Given the description of an element on the screen output the (x, y) to click on. 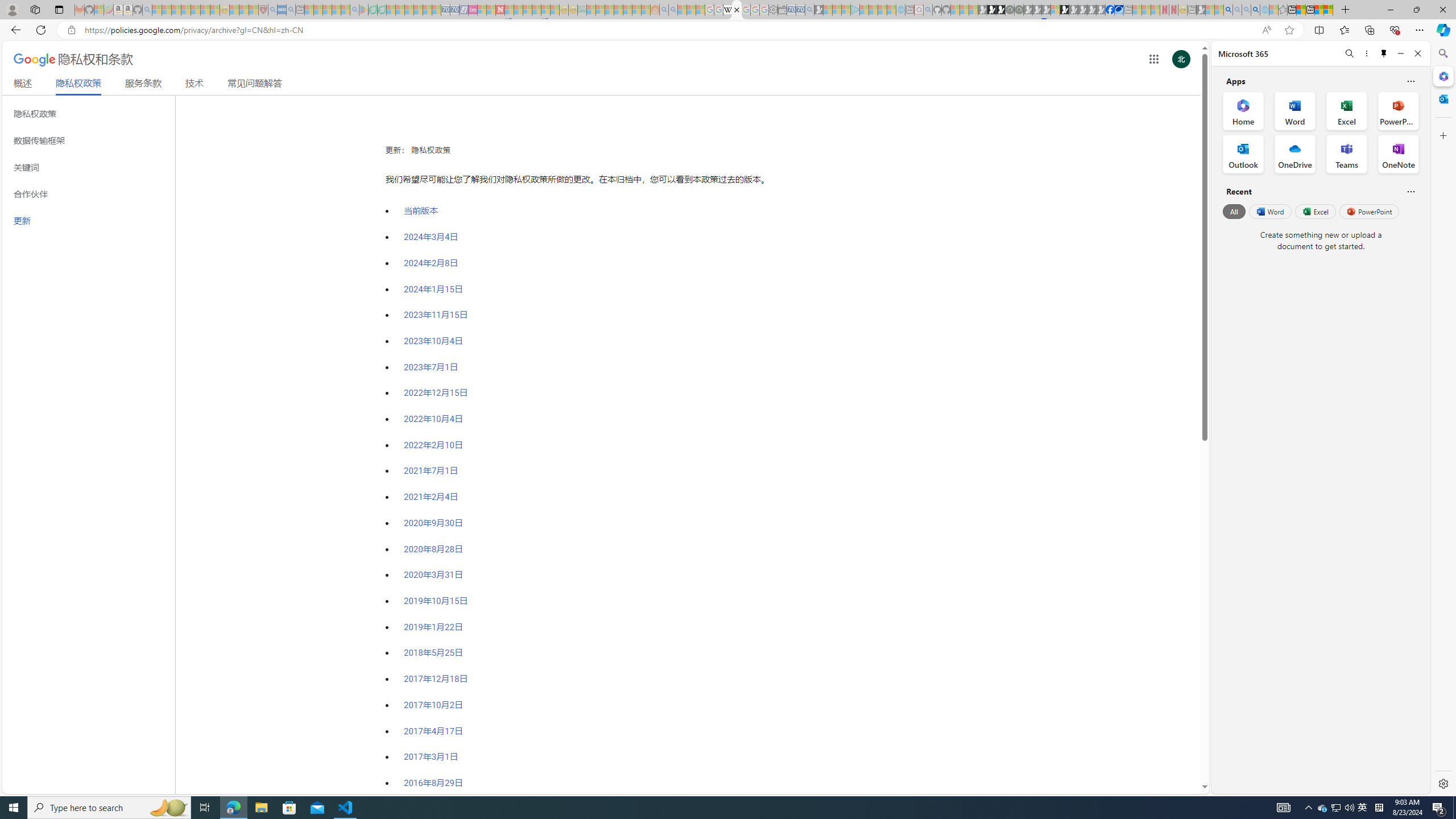
github - Search - Sleeping (927, 9)
list of asthma inhalers uk - Search - Sleeping (272, 9)
Close Outlook pane (1442, 98)
New Report Confirms 2023 Was Record Hot | Watch - Sleeping (195, 9)
Local - MSN - Sleeping (253, 9)
Cheap Hotels - Save70.com - Sleeping (454, 9)
Microsoft Start - Sleeping (882, 9)
